Given the description of an element on the screen output the (x, y) to click on. 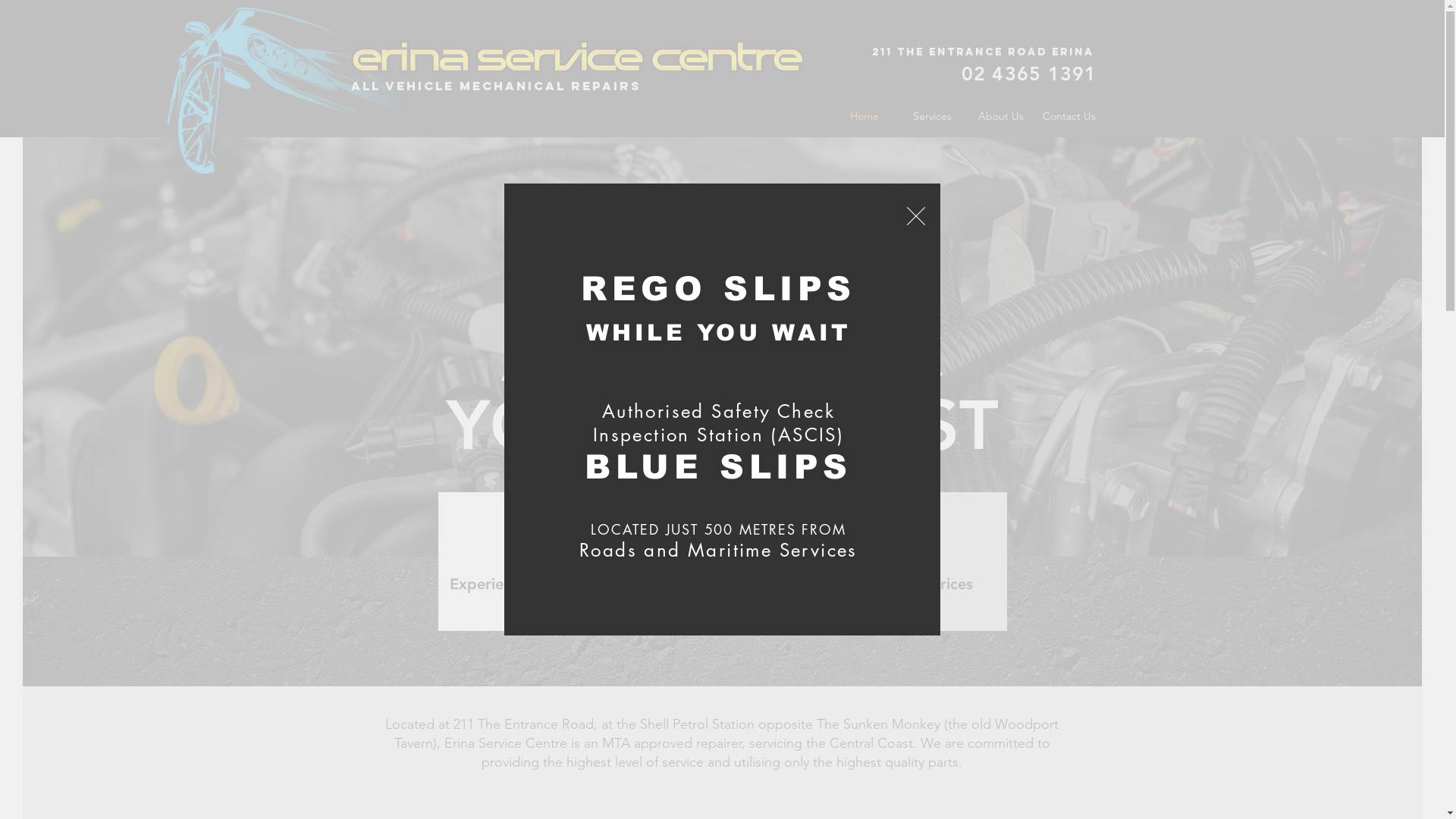
Contact Us Element type: text (1068, 116)
Home Element type: text (863, 116)
Back to site Element type: hover (915, 215)
About Us Element type: text (1000, 116)
Services Element type: text (931, 116)
